Given the description of an element on the screen output the (x, y) to click on. 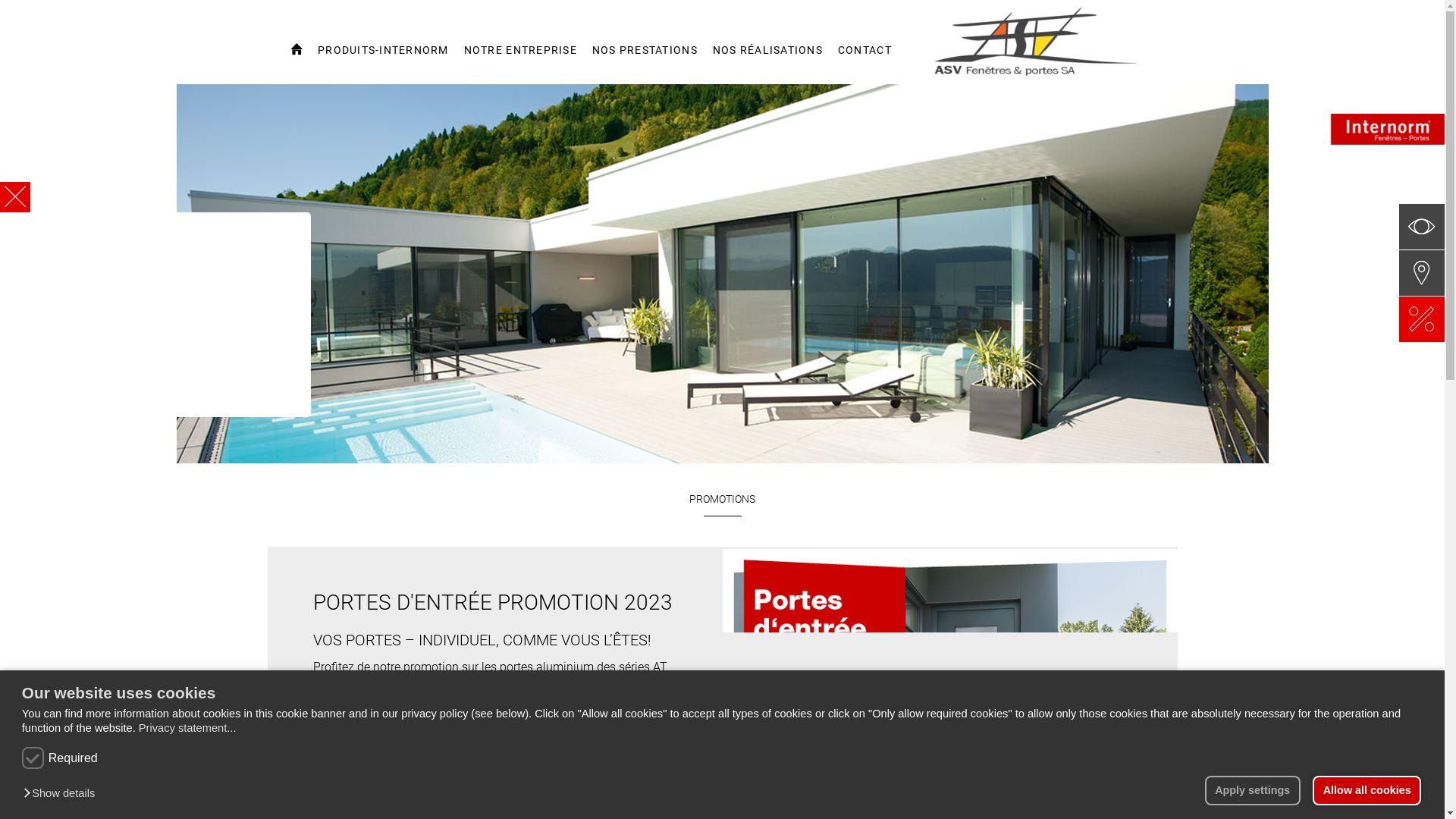
NOTRE ENTREPRISE Element type: text (520, 57)
CONTACT Element type: text (864, 57)
Privacy statement... Element type: text (187, 727)
Show details Element type: text (62, 792)
OUVRIR PDF PROMOTION PORTES DE MAISON Element type: text (468, 761)
Apply settings Element type: text (1252, 790)
Allow all cookies Element type: text (1366, 790)
PRODUITS-INTERNORM Element type: text (382, 57)
NOS PRESTATIONS Element type: text (644, 57)
